Given the description of an element on the screen output the (x, y) to click on. 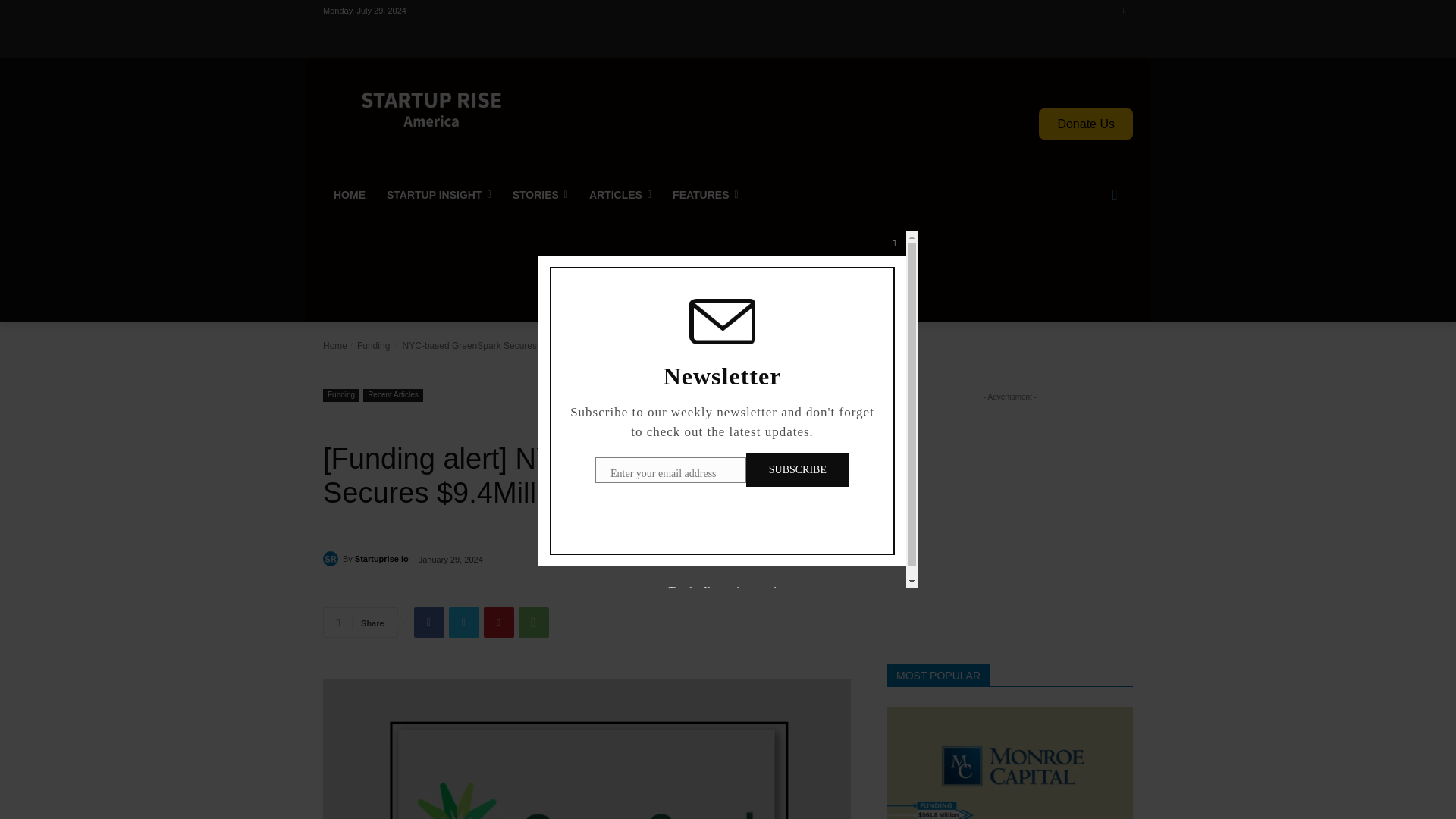
STARTUP INSIGHT (438, 194)
HOME (349, 194)
ARTICLES (620, 194)
Donate Us (1085, 123)
Donate Us (1085, 123)
Linkedin (1123, 9)
STORIES (540, 194)
